Given the description of an element on the screen output the (x, y) to click on. 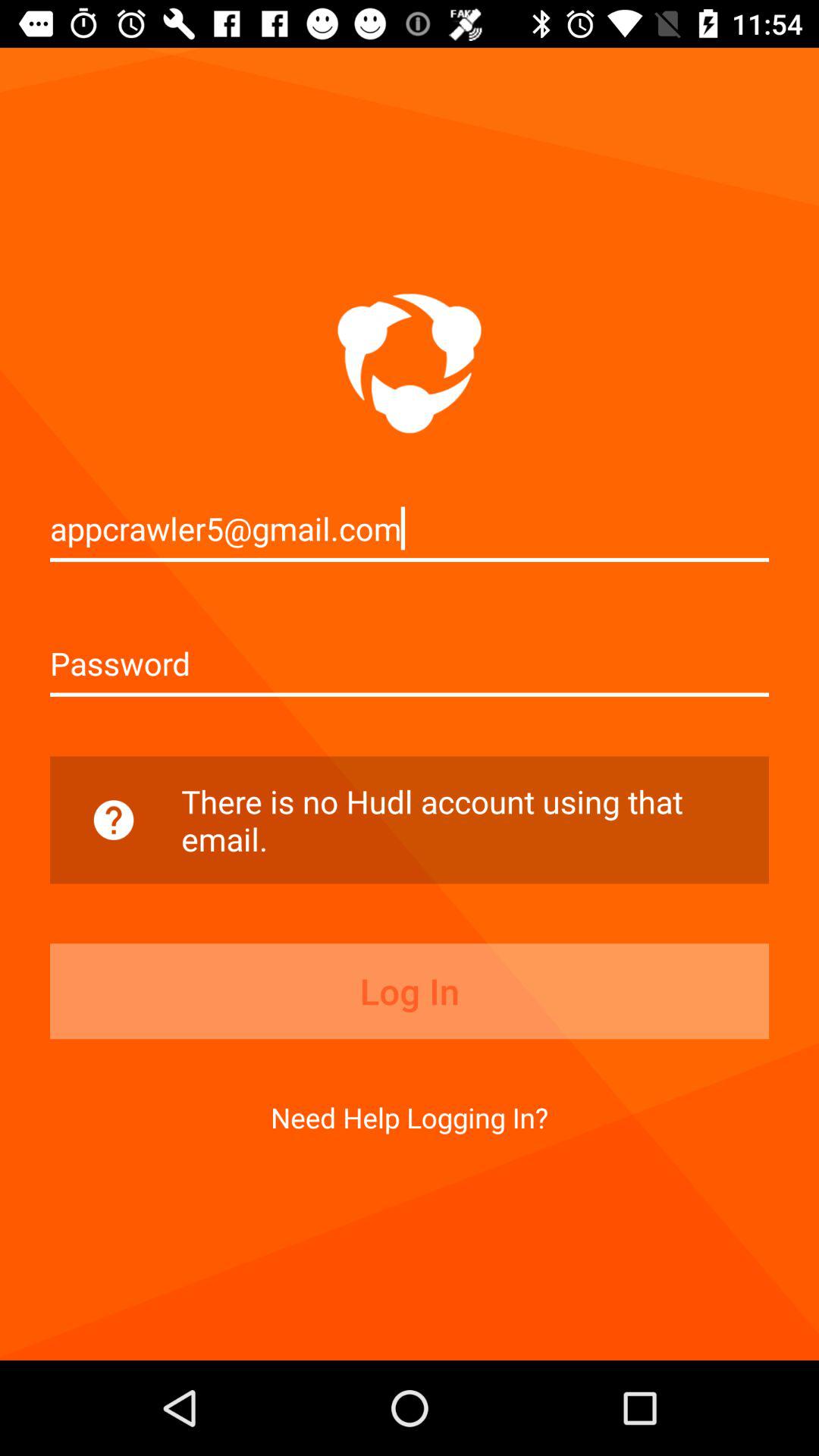
tap the icon below the log in item (409, 1117)
